Given the description of an element on the screen output the (x, y) to click on. 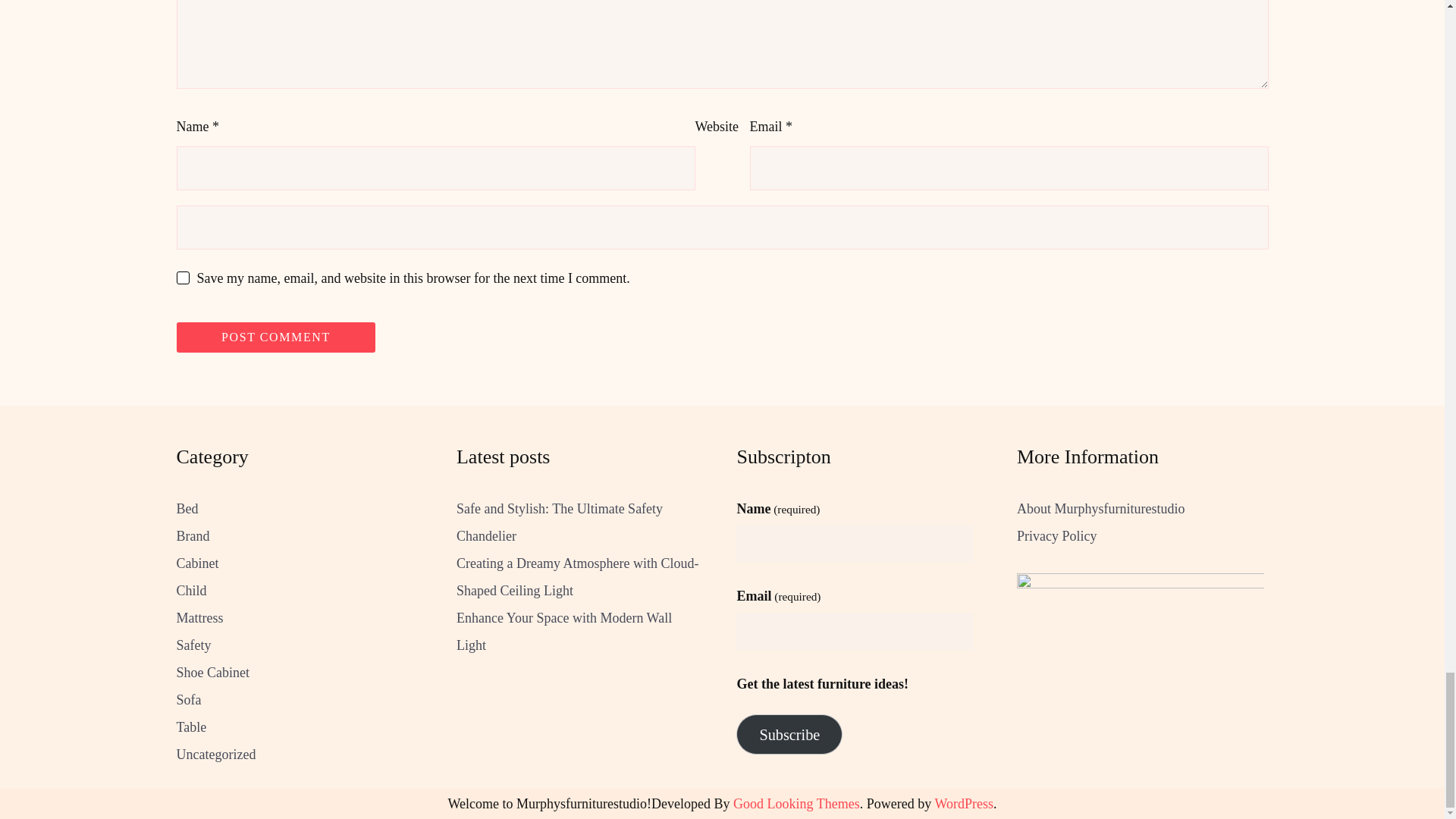
yes (182, 277)
Post Comment (275, 337)
